Given the description of an element on the screen output the (x, y) to click on. 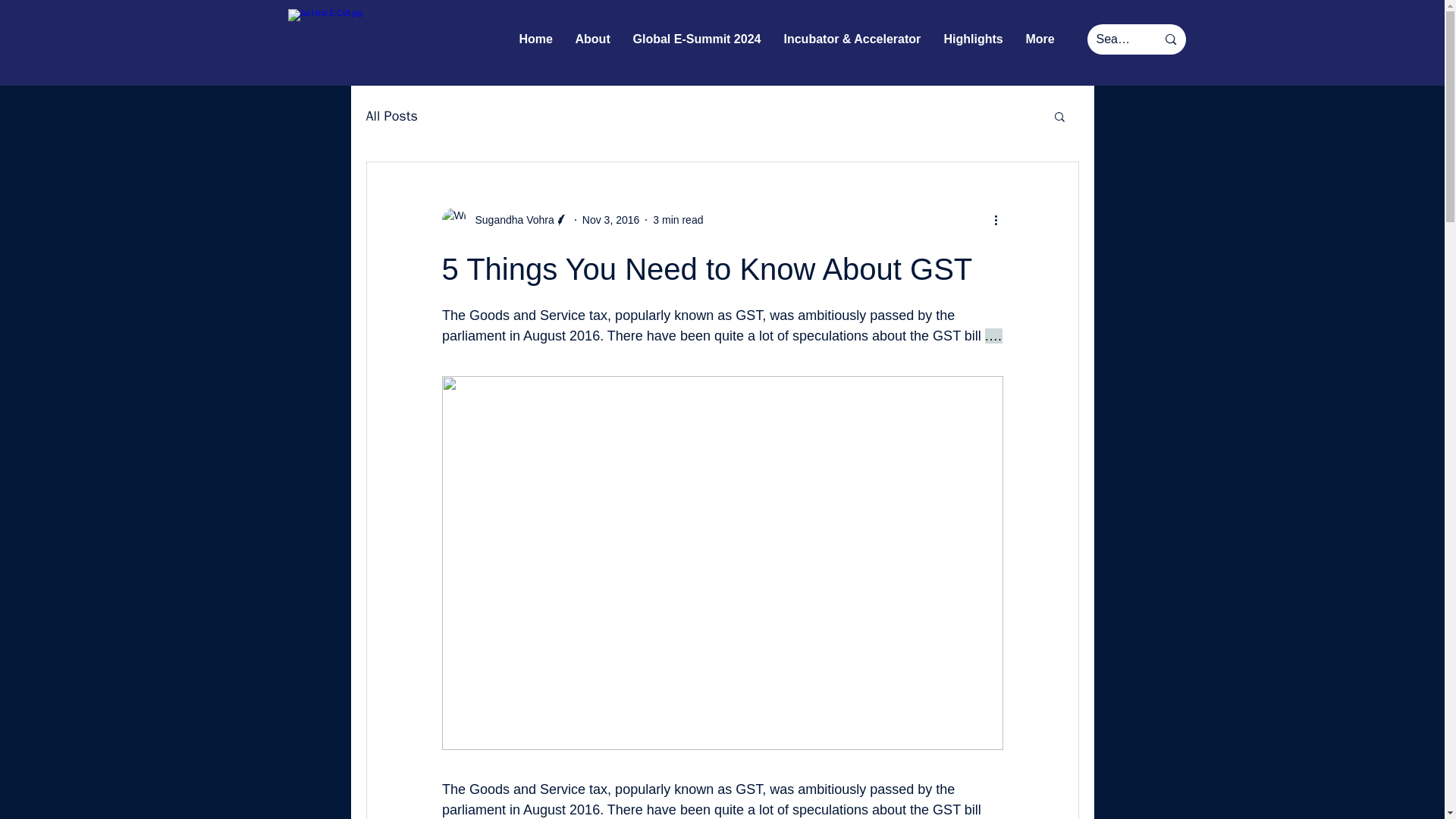
About (592, 39)
3 min read (677, 219)
All Posts (390, 116)
Global E-Summit 2024 (697, 39)
Sugandha Vohra (504, 219)
Home (536, 39)
Nov 3, 2016 (611, 219)
Sugandha Vohra (509, 220)
